Given the description of an element on the screen output the (x, y) to click on. 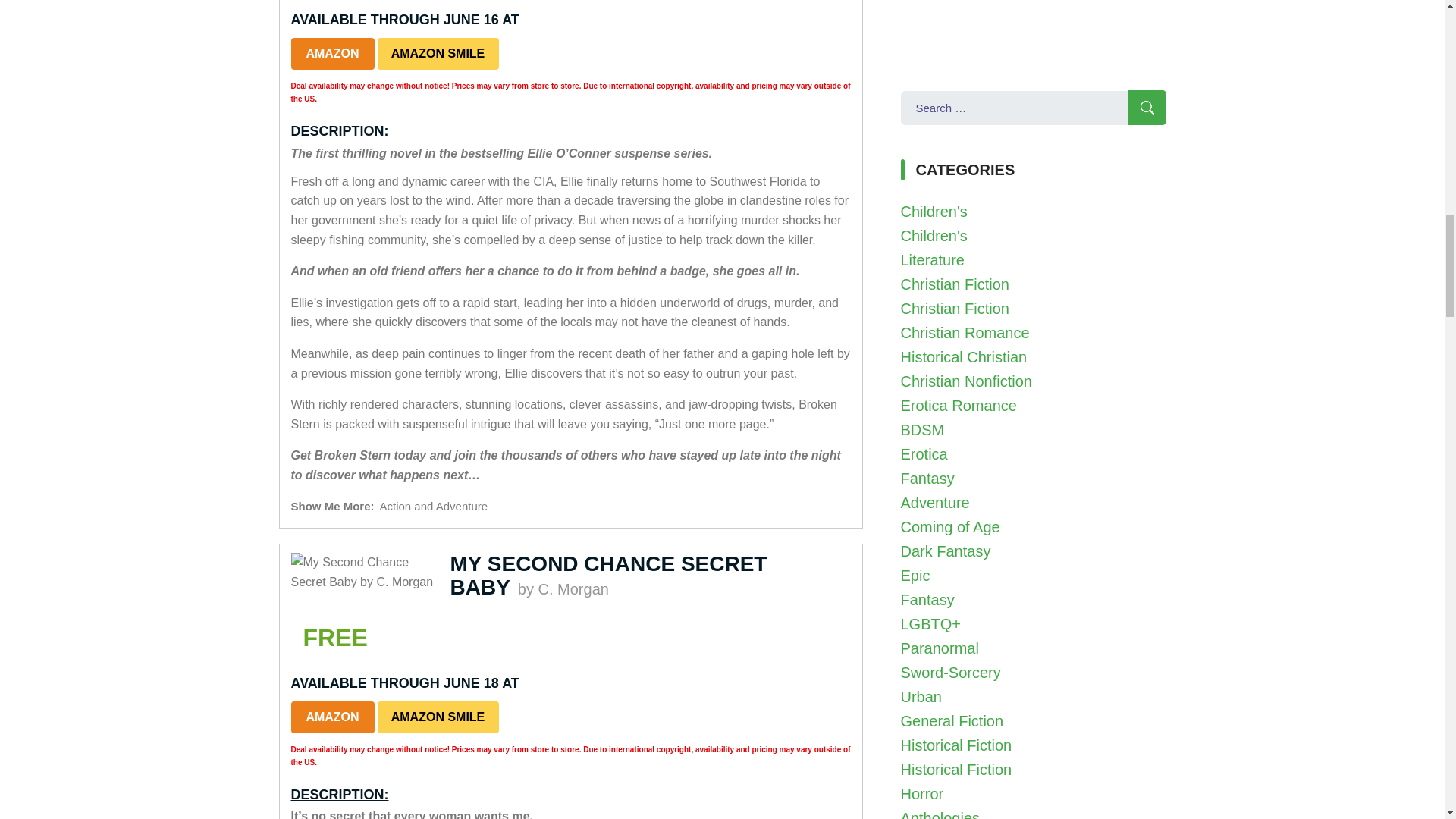
AMAZON (332, 53)
AMAZON SMILE (438, 53)
AMAZON SMILE (438, 717)
Action and Adventure (433, 505)
AMAZON (332, 717)
